Given the description of an element on the screen output the (x, y) to click on. 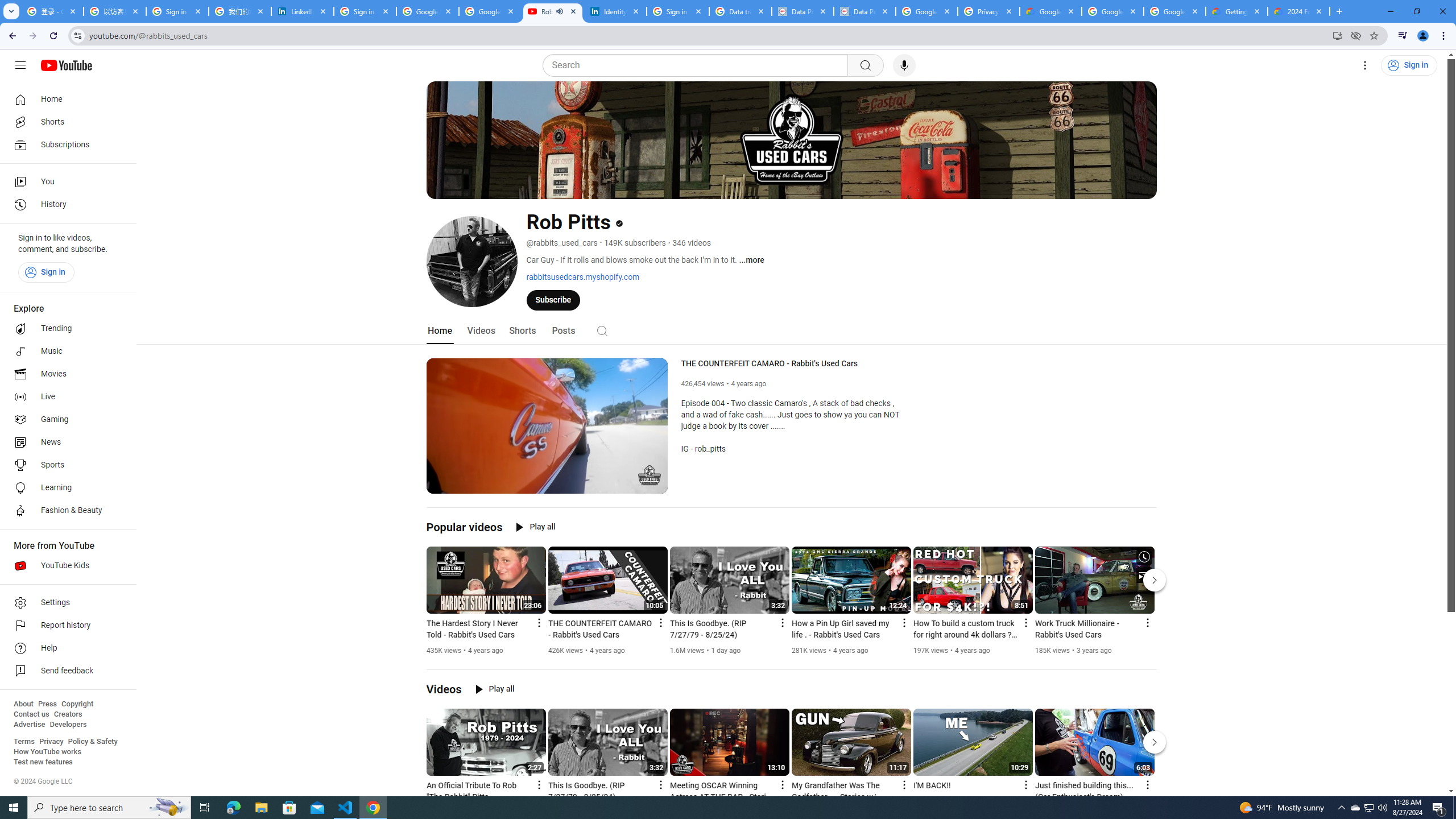
Google Workspace - Specific Terms (1174, 11)
Pause (k) (443, 483)
Sign in - Google Accounts (365, 11)
Mute (m) (463, 483)
Contact us (31, 714)
Creators (67, 714)
